Given the description of an element on the screen output the (x, y) to click on. 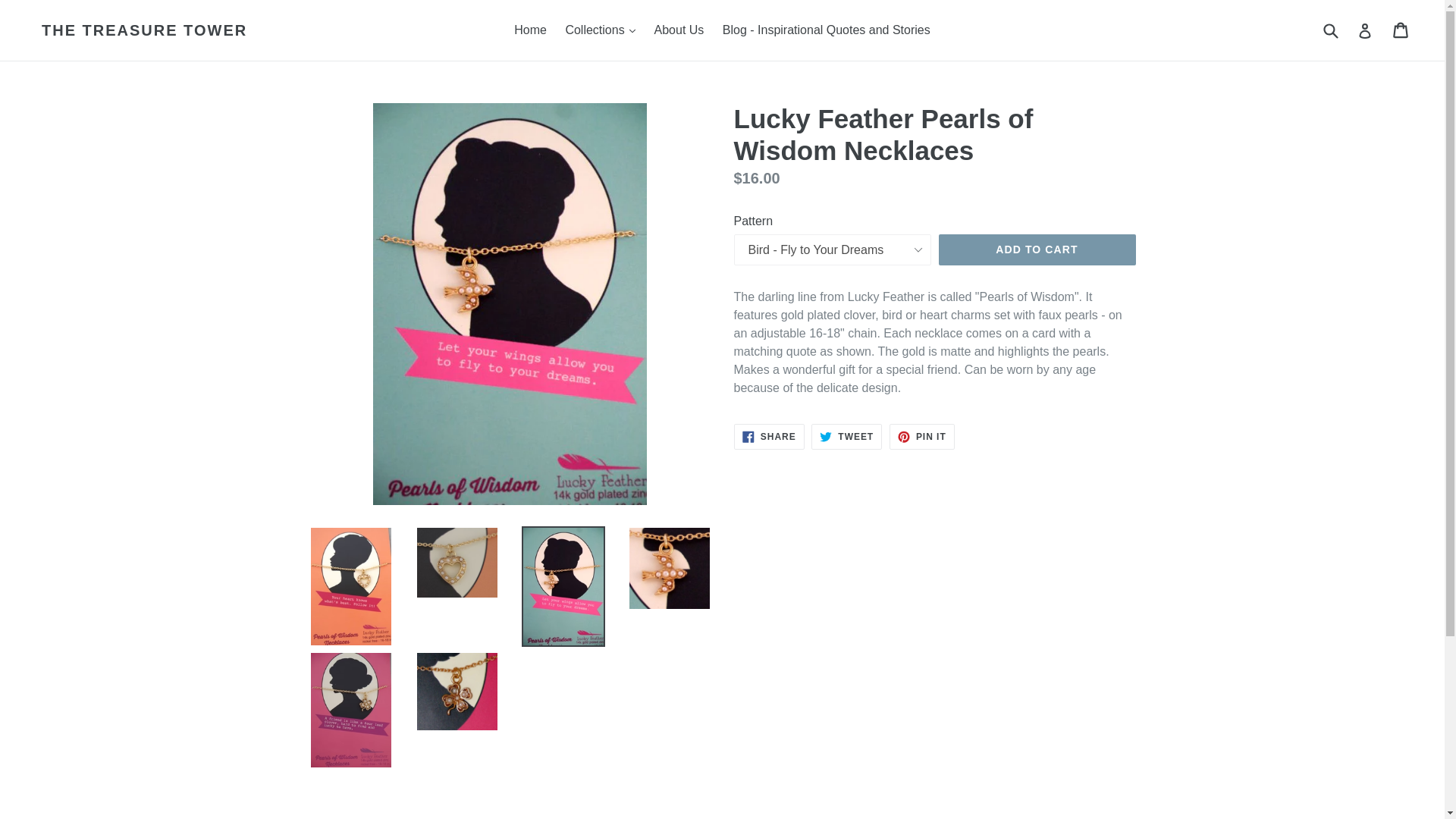
Pin on Pinterest (922, 436)
Tweet on Twitter (846, 436)
Share on Facebook (769, 436)
